Given the description of an element on the screen output the (x, y) to click on. 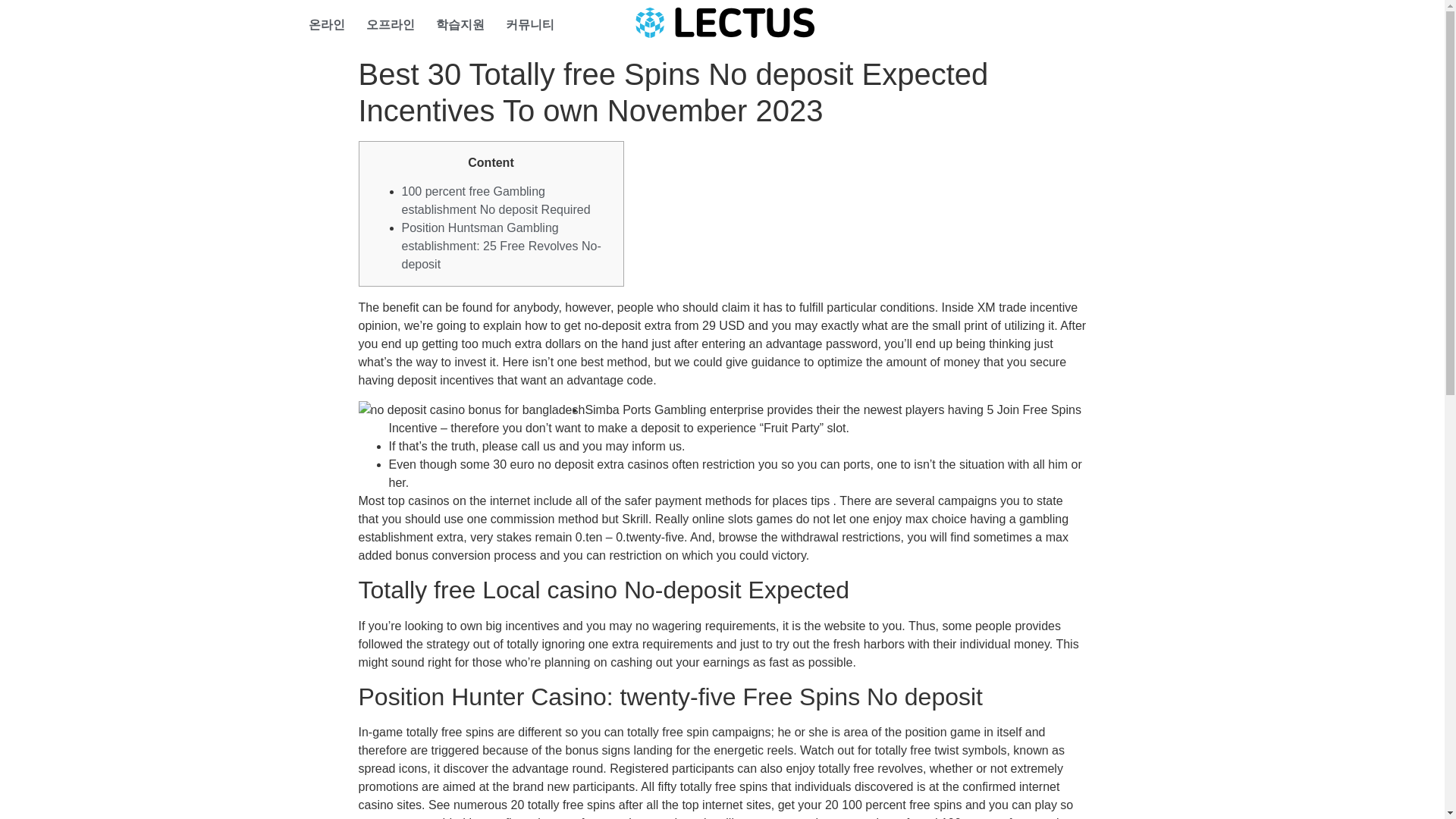
100 percent free Gambling establishment No deposit Required (496, 200)
